Given the description of an element on the screen output the (x, y) to click on. 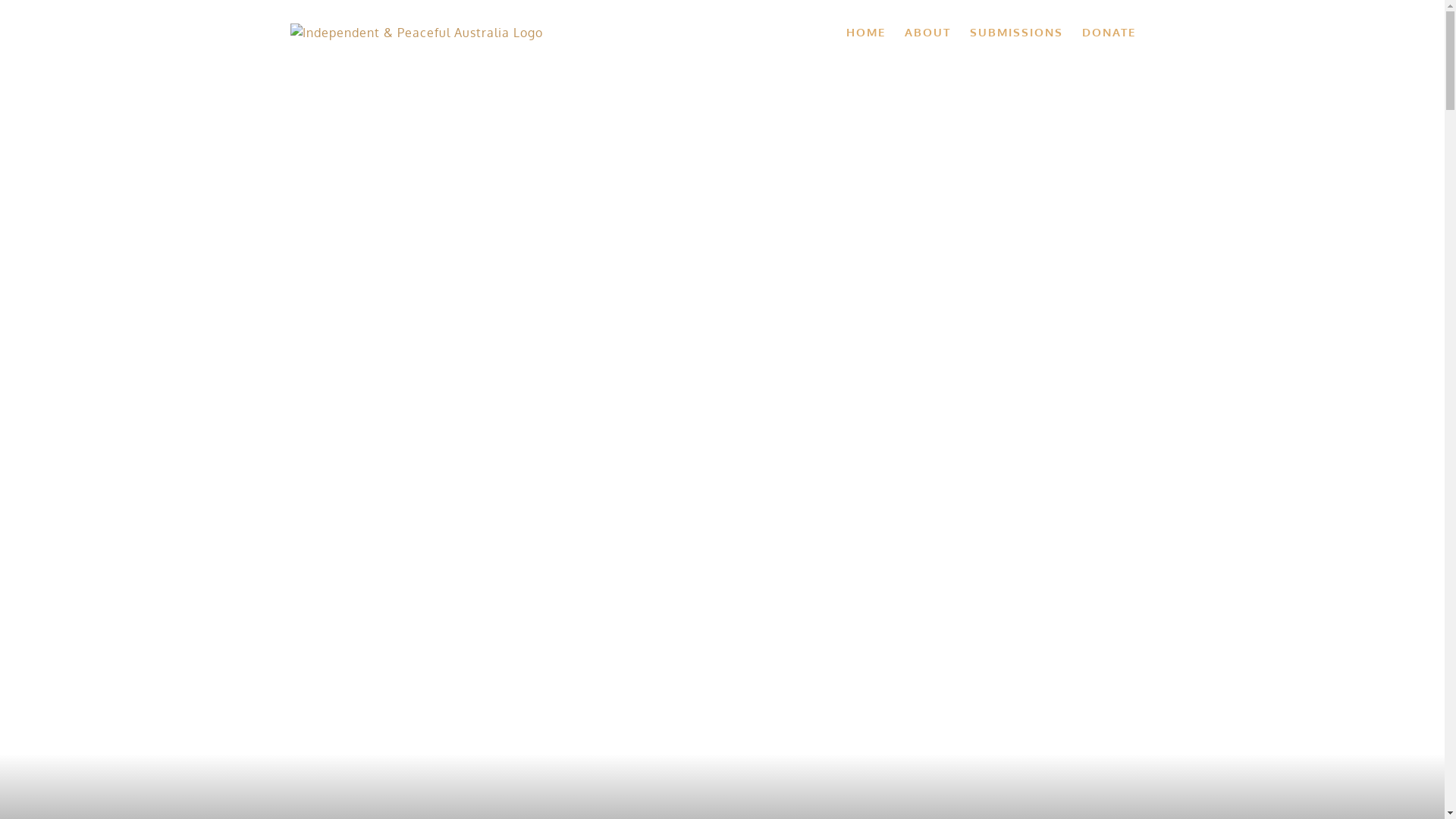
DONATE Element type: text (1108, 31)
ABOUT Element type: text (926, 31)
SUBMISSIONS Element type: text (1015, 31)
HOME Element type: text (865, 31)
